Given the description of an element on the screen output the (x, y) to click on. 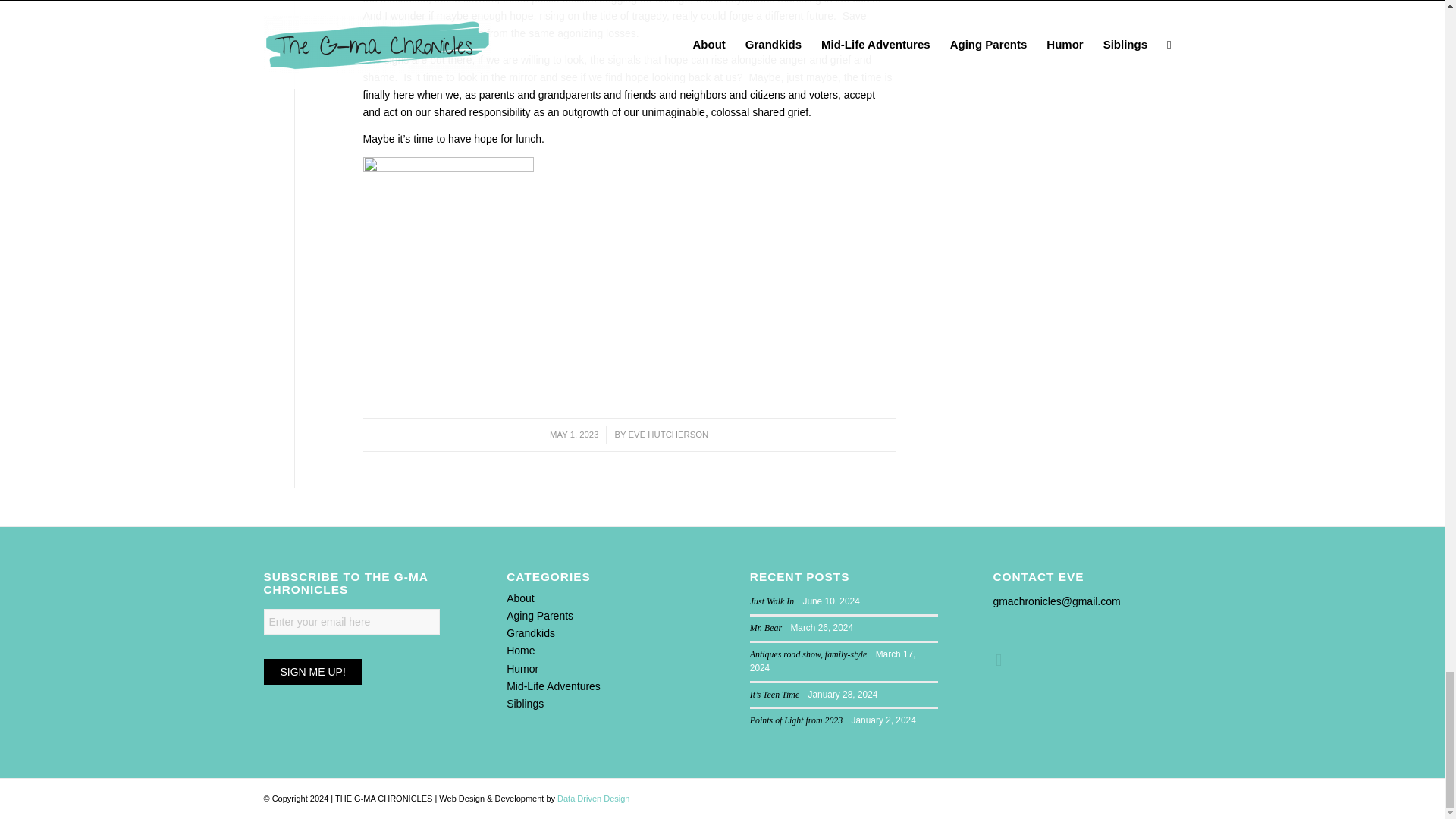
SIGN ME UP! (312, 671)
EVE HUTCHERSON (668, 433)
Posts by Eve Hutcherson (668, 433)
